Given the description of an element on the screen output the (x, y) to click on. 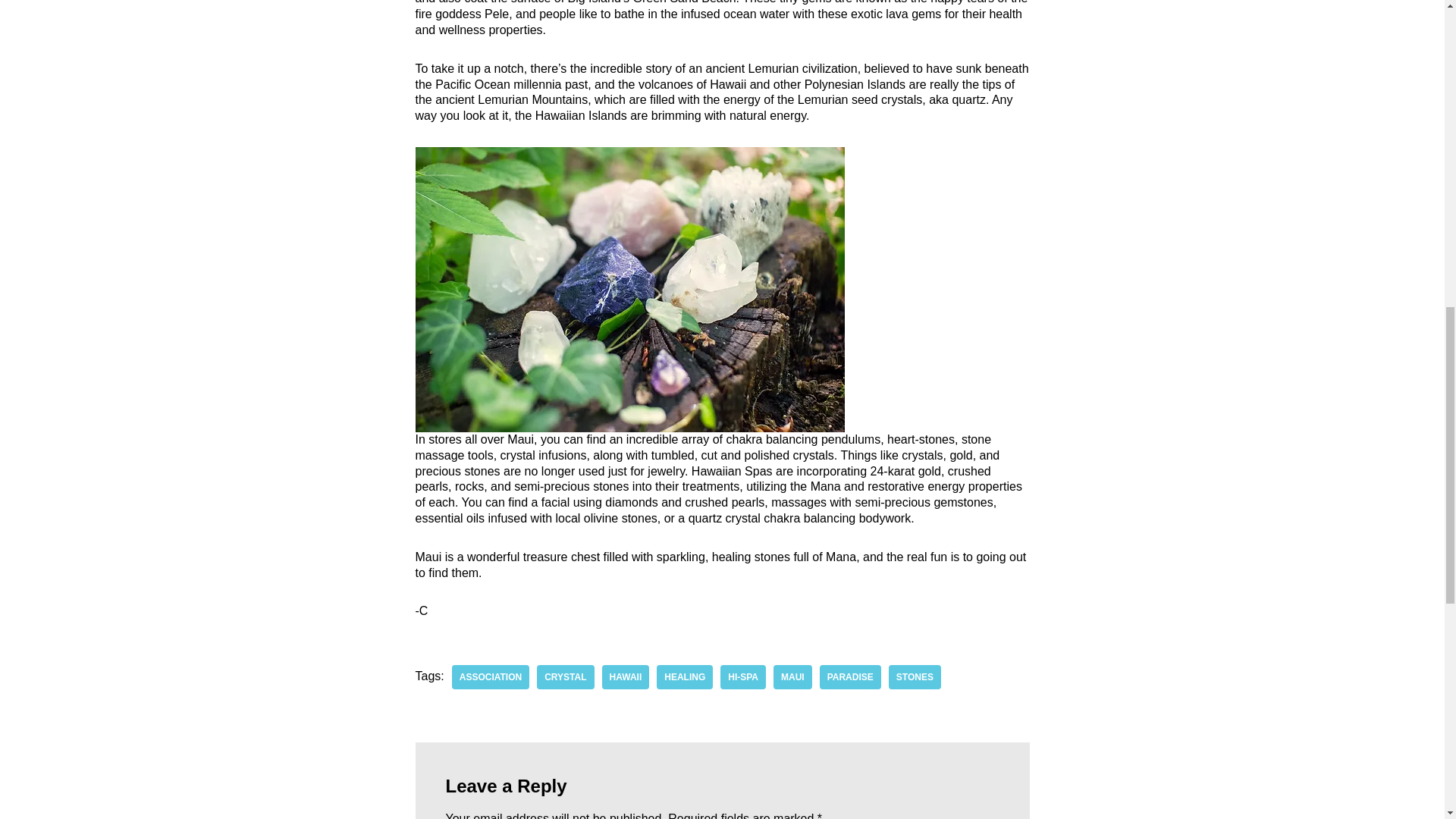
hawaii (625, 677)
STONES (914, 677)
HEALING (684, 677)
MAUI (792, 677)
stones (914, 677)
association (490, 677)
HI-SPA (742, 677)
HAWAII (625, 677)
CRYSTAL (565, 677)
healing (684, 677)
